Given the description of an element on the screen output the (x, y) to click on. 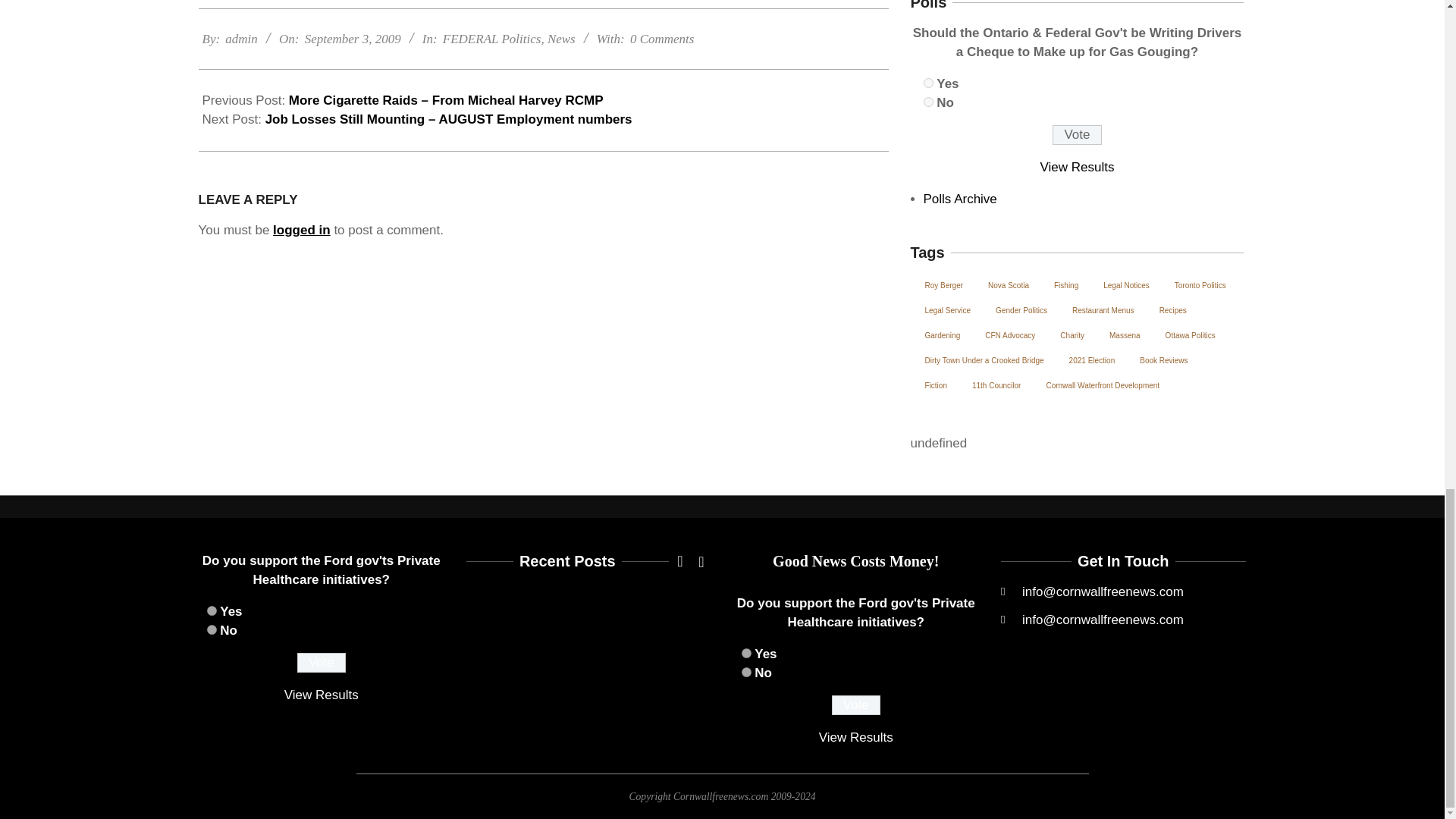
Thursday, September 3, 2009, 4:17 pm (352, 38)
1763 (928, 102)
1776 (746, 653)
1777 (746, 672)
1762 (928, 82)
1777 (210, 629)
   Vote    (855, 704)
View Results Of This Poll (1078, 166)
View Results Of This Poll (855, 737)
View Results Of This Poll (320, 694)
   Vote    (1076, 134)
1776 (210, 610)
   Vote    (321, 662)
Posts by admin (241, 38)
